Given the description of an element on the screen output the (x, y) to click on. 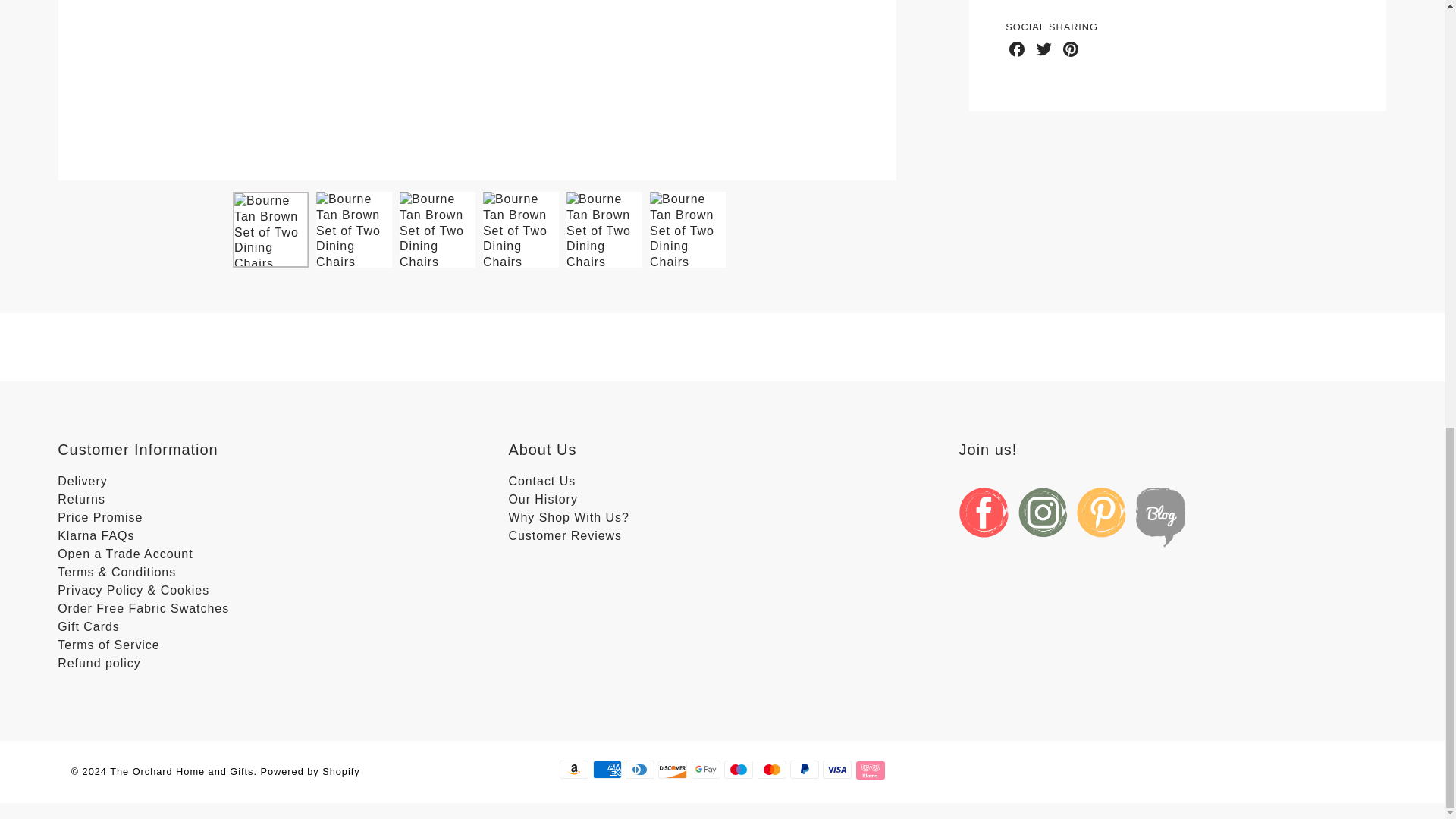
Maestro (737, 769)
Tweet on Twitter (1043, 48)
American Express (606, 769)
Discover (672, 769)
Diners Club (639, 769)
Google Pay (705, 769)
Amazon (573, 769)
Pin on Pinterest (1070, 48)
Share on Facebook (1016, 48)
